Given the description of an element on the screen output the (x, y) to click on. 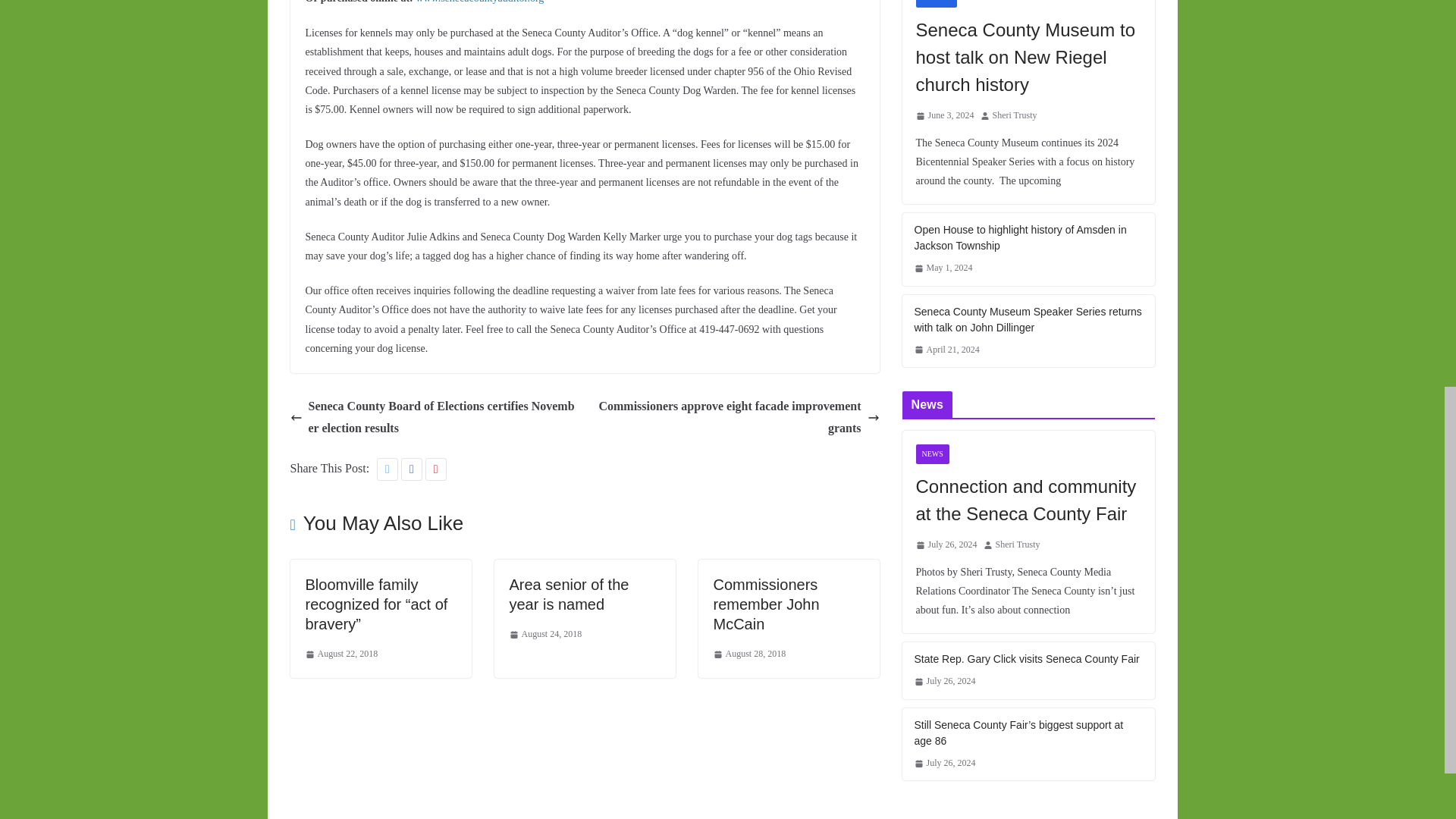
Area senior of the year is named (568, 594)
4:06 pm (545, 634)
www.senecacountyauditor.org (478, 2)
3:46 pm (340, 654)
